Given the description of an element on the screen output the (x, y) to click on. 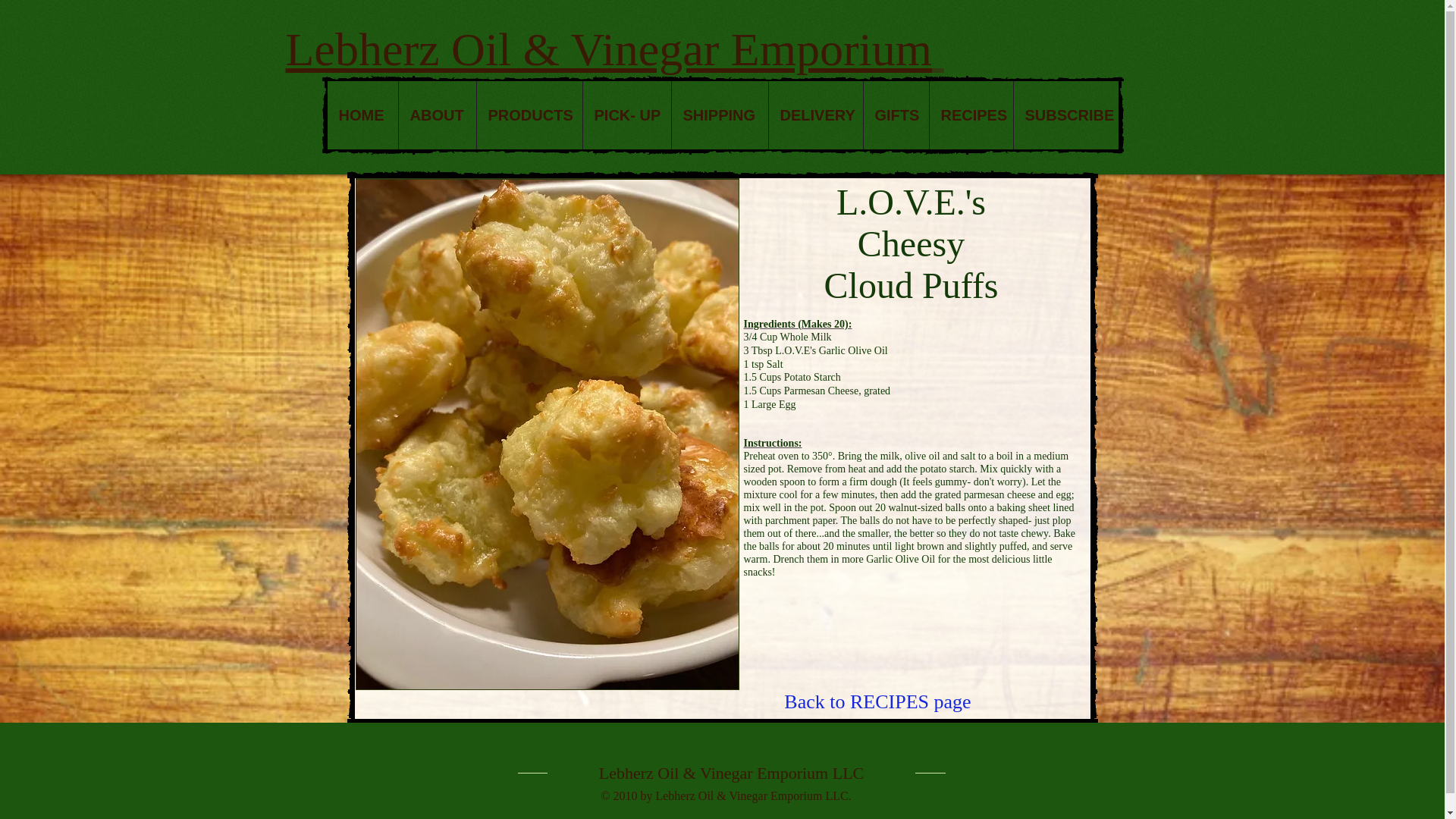
SUBSCRIBE (1065, 115)
GIFTS (895, 115)
Back to RECIPES page (877, 701)
RECIPES (969, 115)
DELIVERY (814, 115)
ABOUT (436, 115)
PICK- UP (626, 115)
SHIPPING (718, 115)
PRODUCTS (529, 115)
HOME (362, 115)
